Given the description of an element on the screen output the (x, y) to click on. 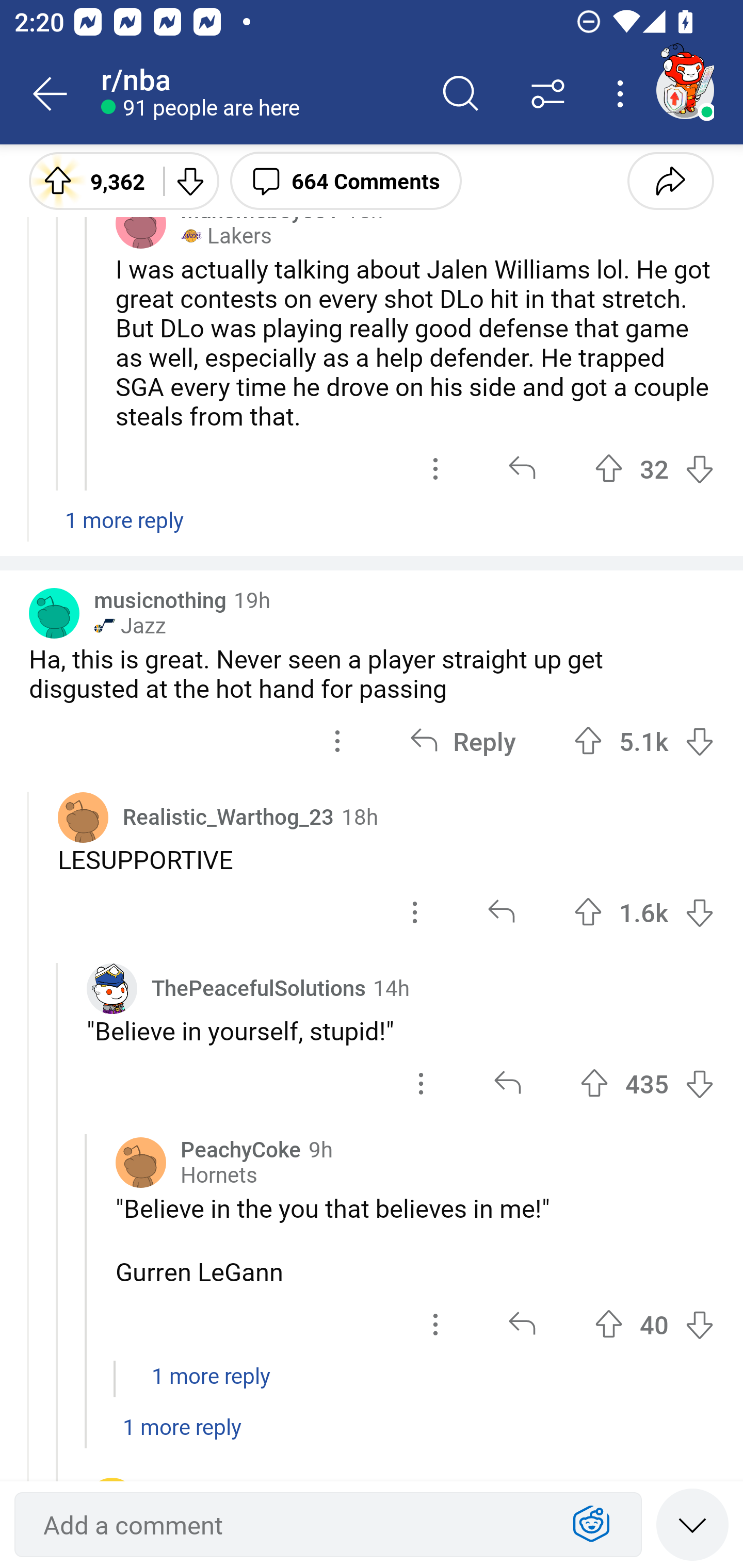
Back (50, 93)
TestAppium002 account (685, 90)
Search comments (460, 93)
Sort comments (547, 93)
More options (623, 93)
r/nba 91 people are here (259, 93)
Upvote 9,362 (88, 180)
Downvote (189, 180)
664 Comments (346, 180)
Share (670, 180)
Avatar (140, 223)
￼ Lakers (225, 235)
options (435, 468)
Upvote 32 32 votes Downvote (654, 468)
Upvote (608, 468)
Downvote (699, 468)
1 more reply (371, 530)
19h (252, 599)
Avatar (53, 613)
￼ Jazz (129, 625)
options (337, 741)
Reply (462, 741)
Upvote 5.1k 5149 votes Downvote (643, 741)
Upvote (587, 740)
Downvote (699, 740)
Avatar (82, 816)
18h (359, 816)
LESUPPORTIVE (385, 859)
options (414, 912)
Upvote 1.6k 1576 votes Downvote (643, 912)
Upvote (587, 912)
Downvote (699, 912)
Custom avatar (111, 987)
14h (390, 986)
"Believe in yourself, stupid!" (400, 1029)
options (420, 1083)
Upvote 435 435 votes Downvote (647, 1083)
Upvote (594, 1083)
Downvote (699, 1083)
9h (320, 1148)
Avatar (140, 1162)
Hornets (218, 1174)
options (435, 1324)
Upvote 40 40 votes Downvote (654, 1324)
Upvote (608, 1324)
Downvote (699, 1324)
1 more reply (371, 1386)
1 more reply (371, 1436)
Add a comment Show Expressions (328, 1524)
Speed read (692, 1524)
Add a comment (291, 1524)
Show Expressions (590, 1524)
